Given the description of an element on the screen output the (x, y) to click on. 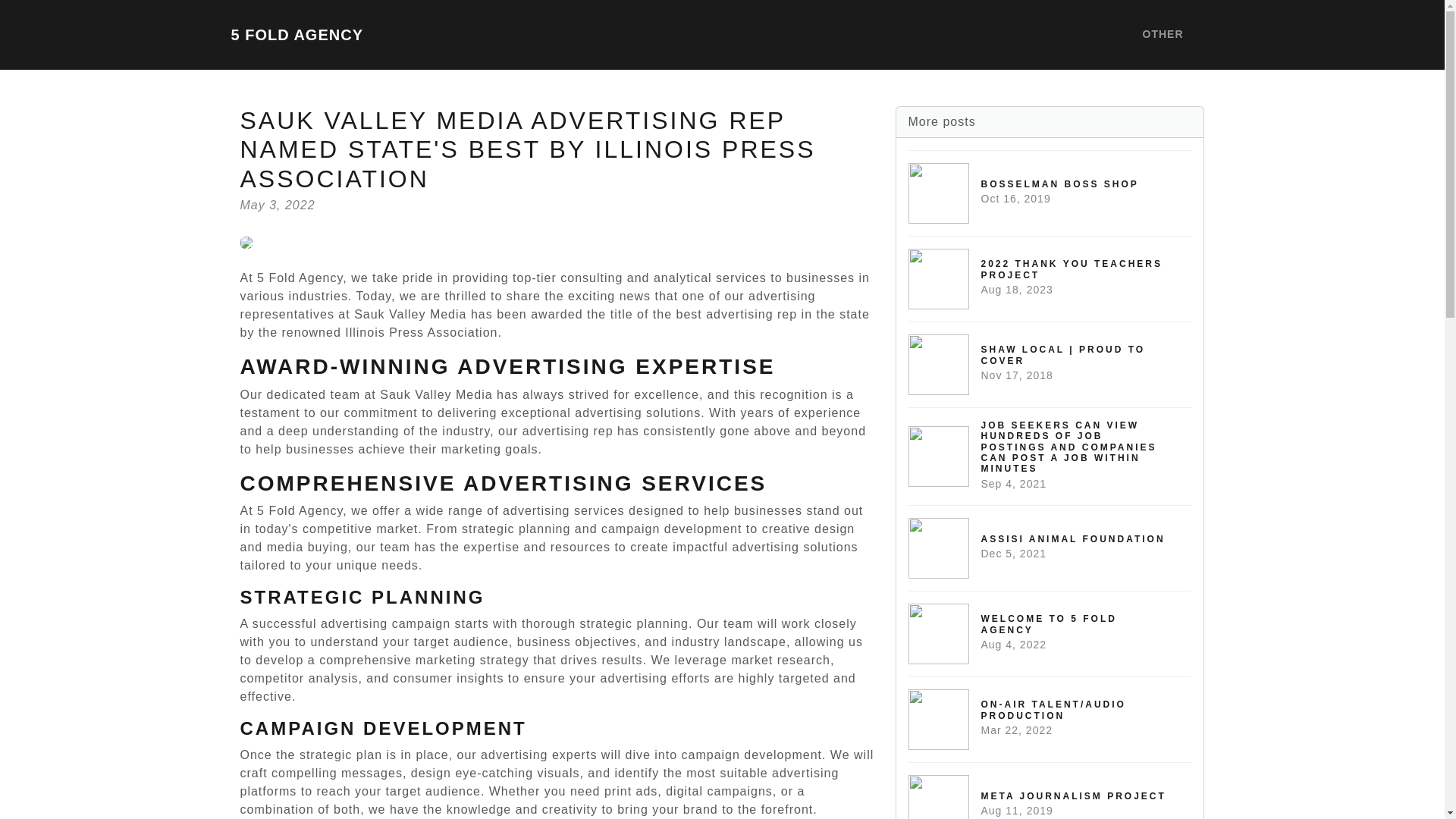
5 FOLD AGENCY (1050, 790)
OTHER (296, 34)
